Given the description of an element on the screen output the (x, y) to click on. 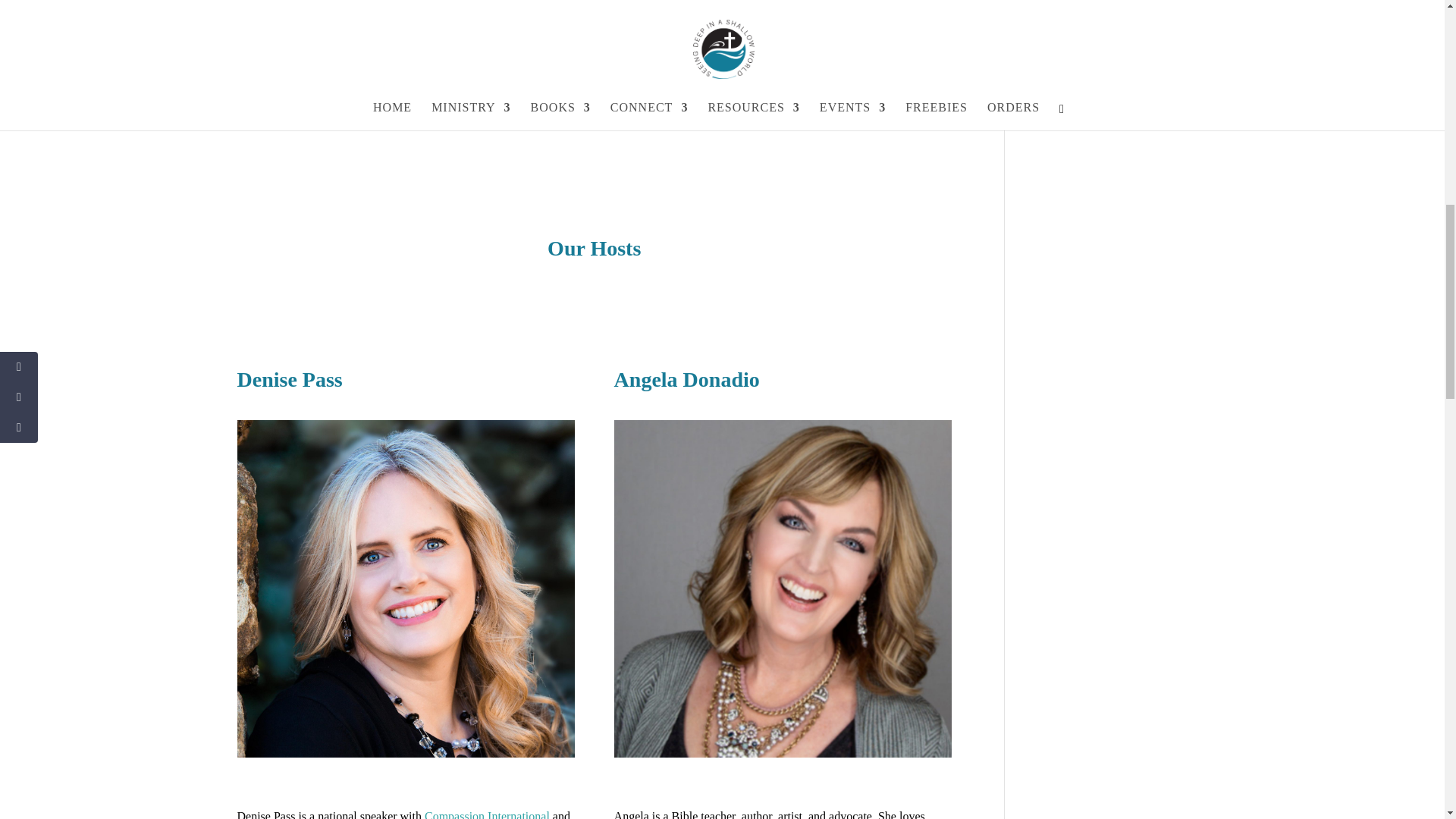
Angela Donadio 2 (783, 588)
1440x1440 (404, 588)
